Given the description of an element on the screen output the (x, y) to click on. 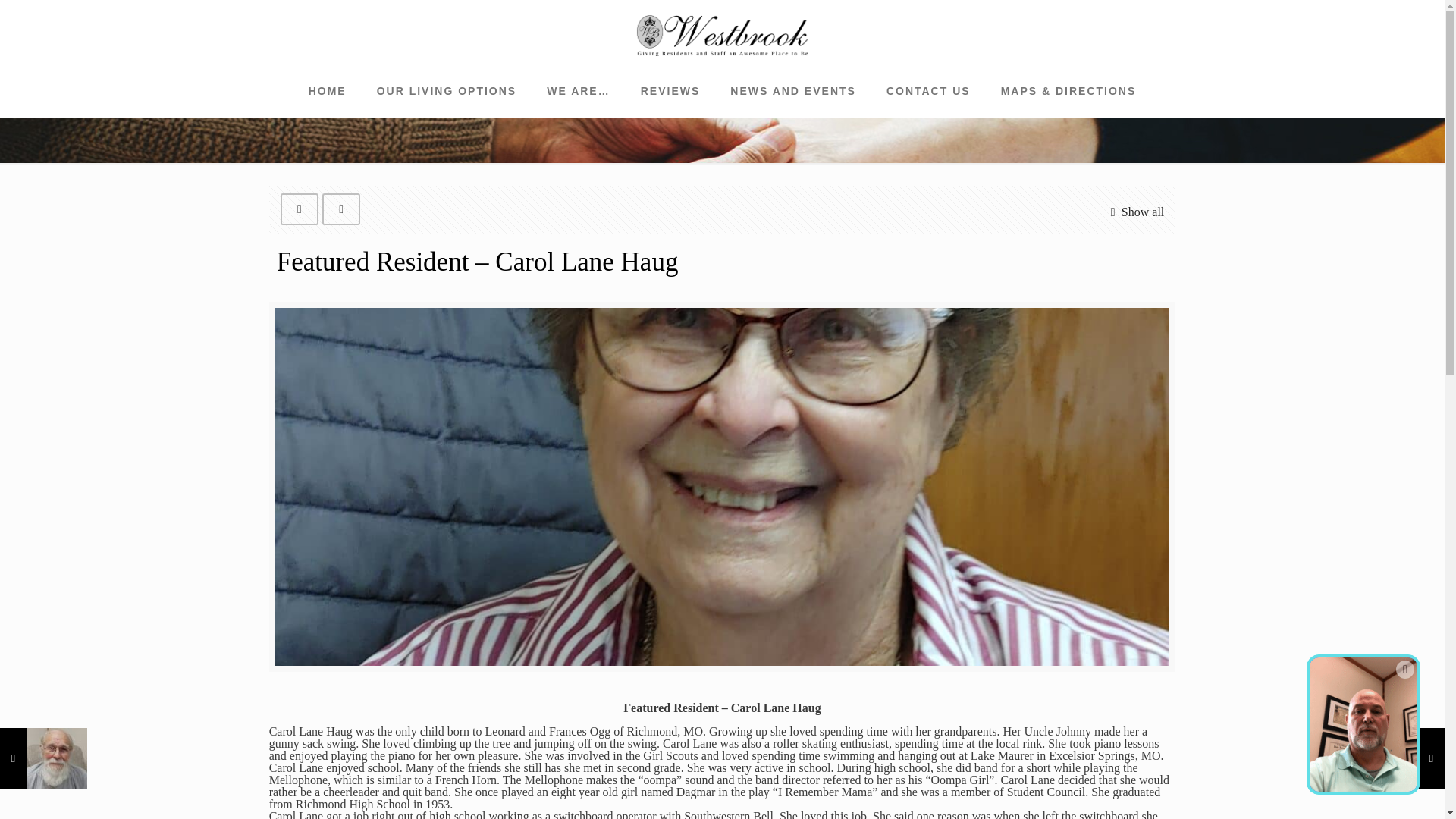
Show all (1133, 211)
OUR LIVING OPTIONS (446, 90)
NEWS AND EVENTS (792, 90)
REVIEWS (671, 90)
CONTACT US (927, 90)
Westbrook Care Center (721, 33)
HOME (327, 90)
